Given the description of an element on the screen output the (x, y) to click on. 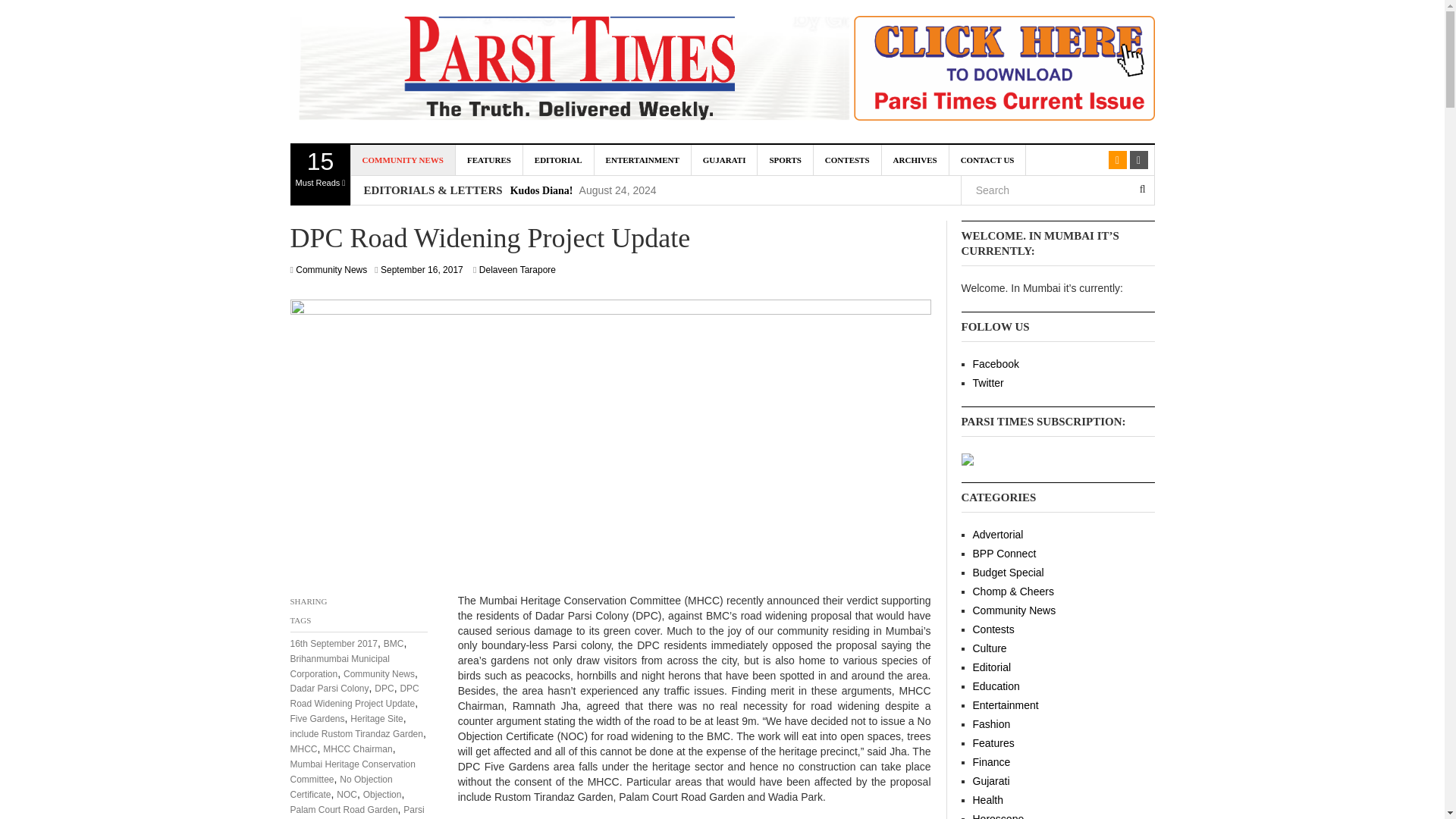
FEATURES (488, 159)
COMMUNITY NEWS (402, 159)
PT SUBSCRIPTION (967, 458)
PT Subscription (1012, 71)
Parsi Times (319, 174)
